Given the description of an element on the screen output the (x, y) to click on. 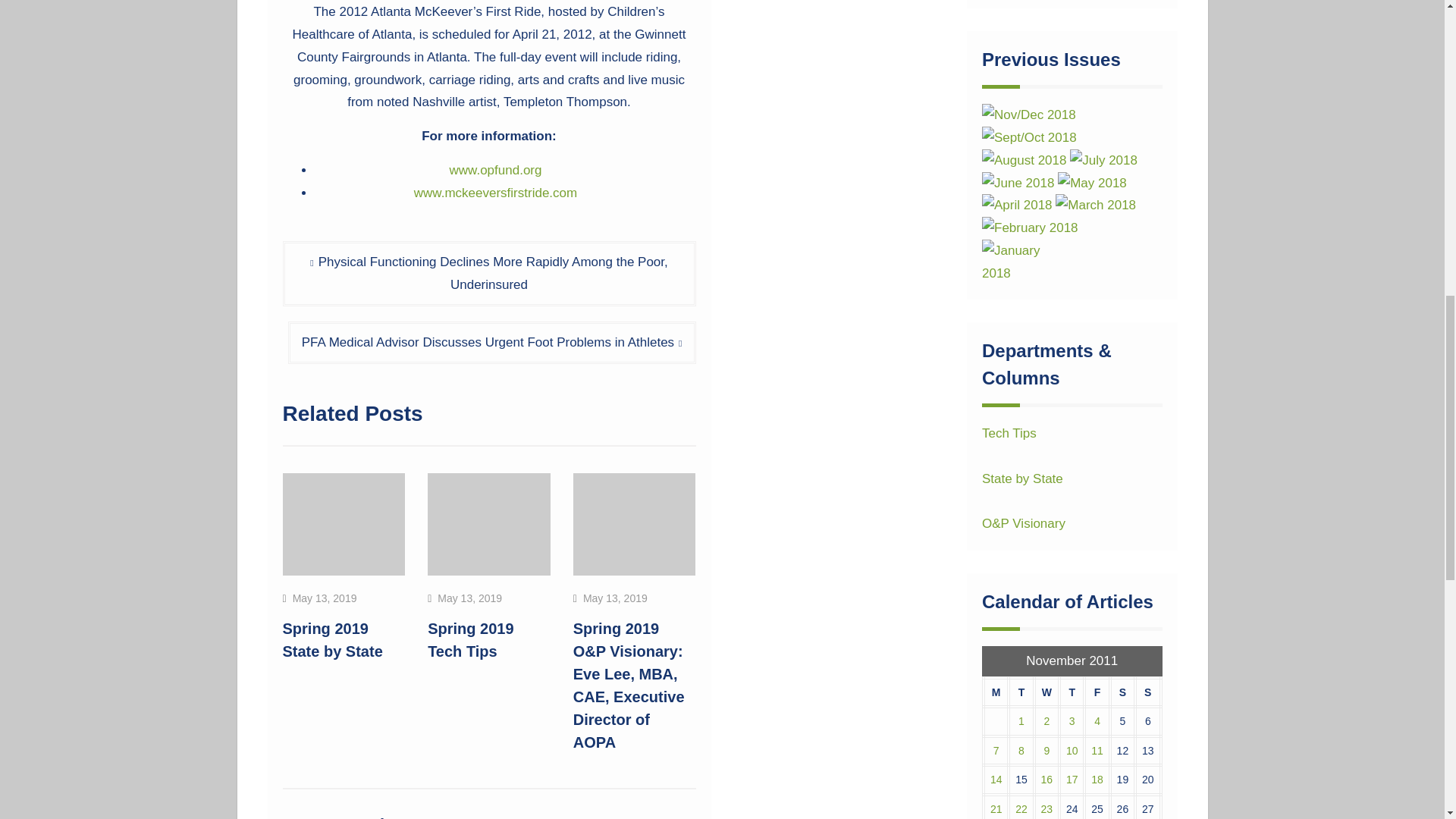
July 2018 (1103, 160)
Spring 2019 Tech Tips (470, 639)
www.opfund.org (495, 169)
April 2018 (1016, 205)
June 2018 (1017, 182)
March 2018 (1095, 205)
August 2018 (1023, 160)
www.mckeeversfirstride.com (494, 192)
